Given the description of an element on the screen output the (x, y) to click on. 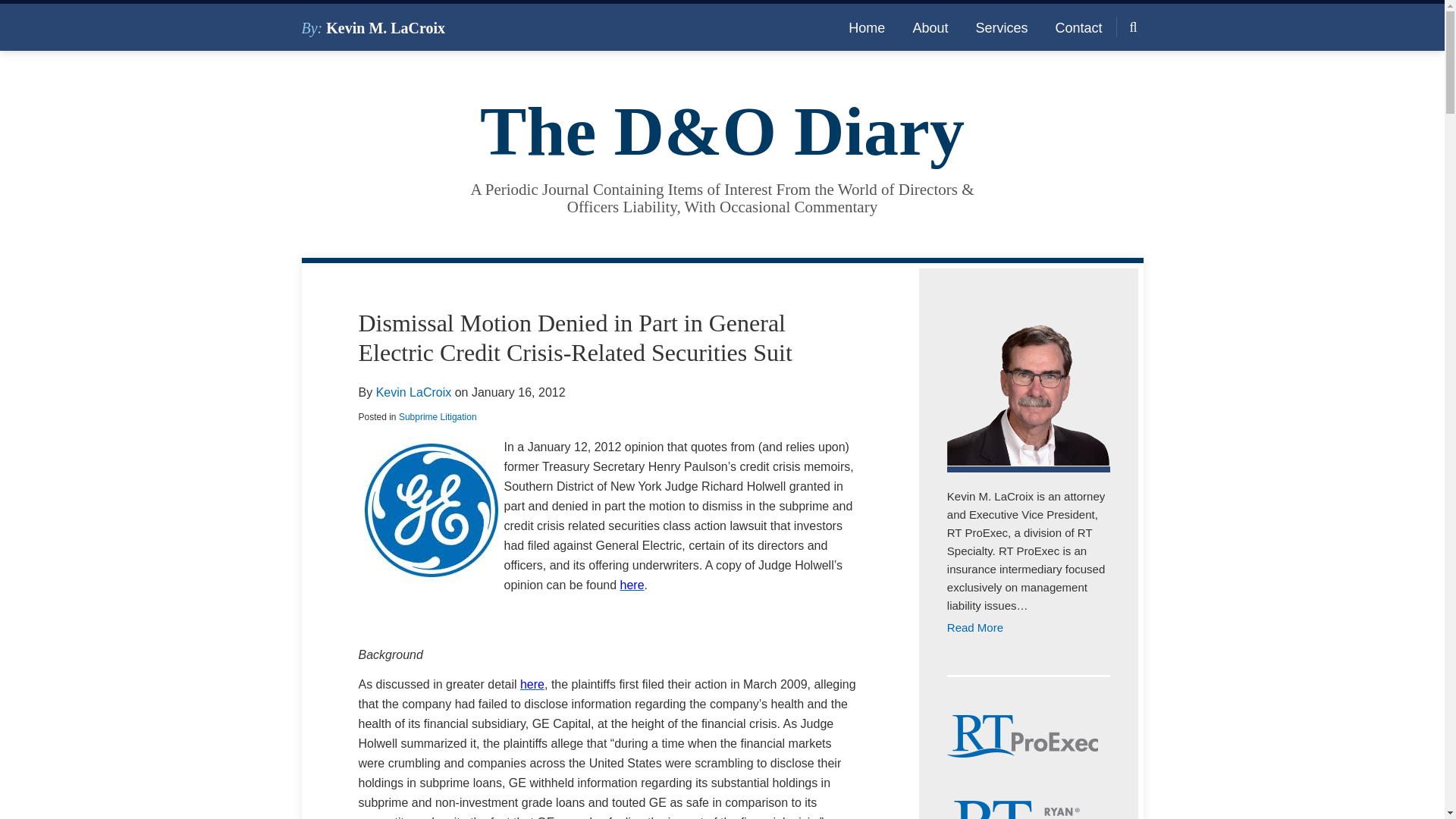
Services (1001, 27)
here (531, 684)
Kevin M. LaCroix (385, 27)
here (632, 584)
Kevin LaCroix (413, 391)
Home (866, 27)
Contact (1078, 27)
About (929, 27)
Subprime Litigation (437, 416)
Read More (1028, 628)
